Given the description of an element on the screen output the (x, y) to click on. 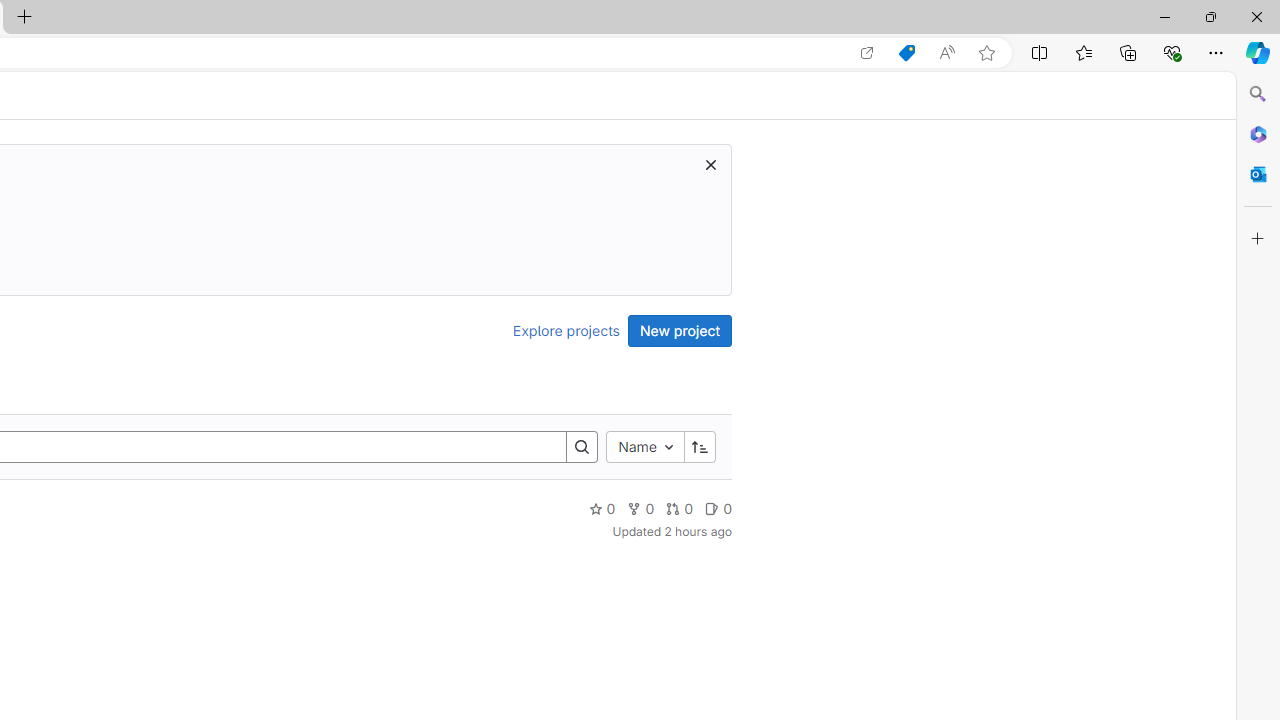
Class: s14 gl-mr-2 (712, 508)
Name (644, 445)
Sort direction: Ascending (699, 445)
